Given the description of an element on the screen output the (x, y) to click on. 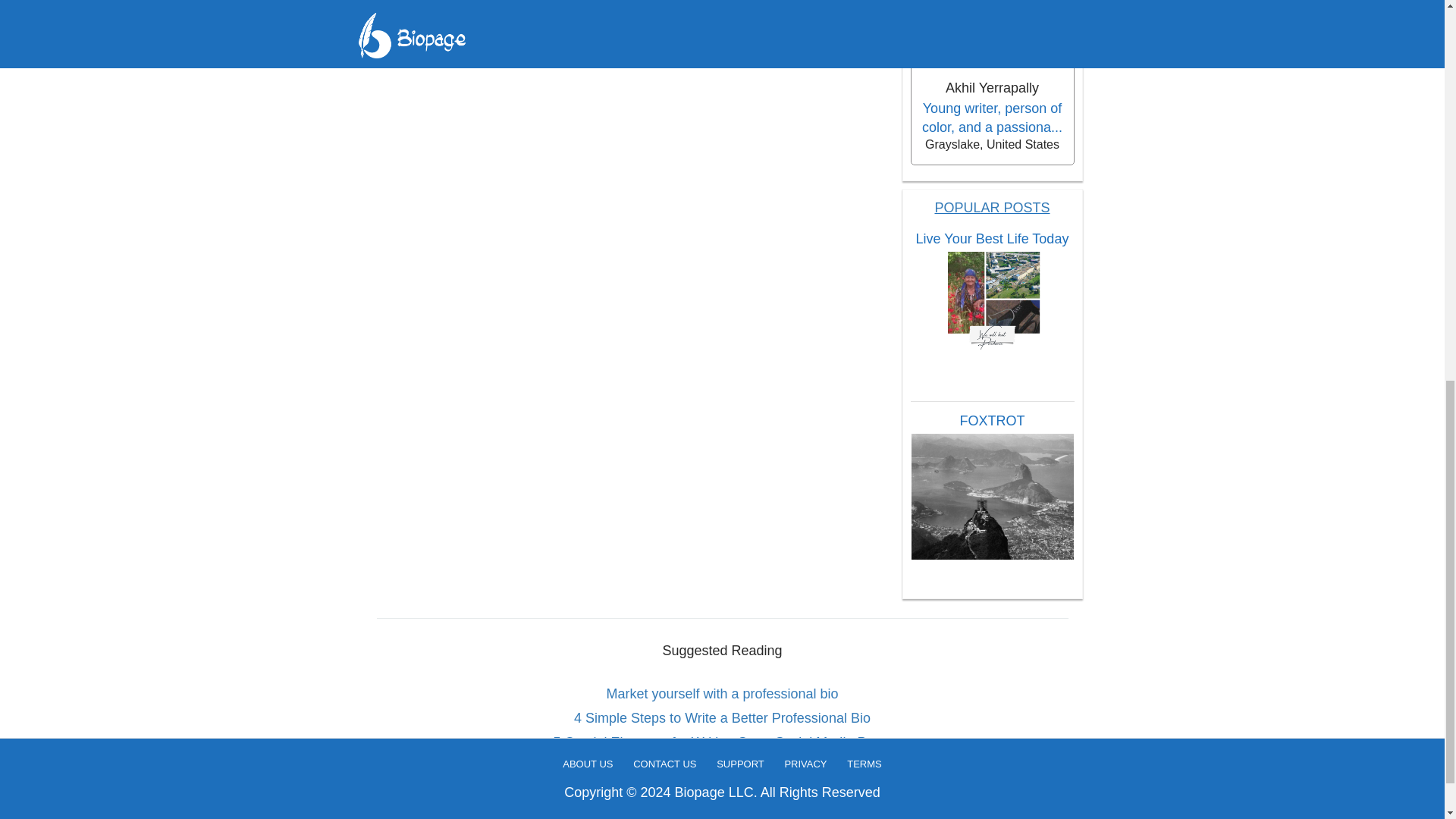
FOXTROT (992, 421)
CONTACT US (664, 11)
5 Crucial Elements for Writing Great Social Media Posts (722, 742)
Live Your Best Life Today (992, 238)
Akhil Yerrapally (991, 87)
POPULAR POSTS (991, 207)
SUPPORT (740, 11)
Popular Posts (991, 207)
PRIVACY (805, 11)
Market yourself with a professional bio (722, 693)
TERMS (864, 11)
4 Simple Steps to Write a Better Professional Bio (722, 717)
ABOUT US (587, 11)
